Given the description of an element on the screen output the (x, y) to click on. 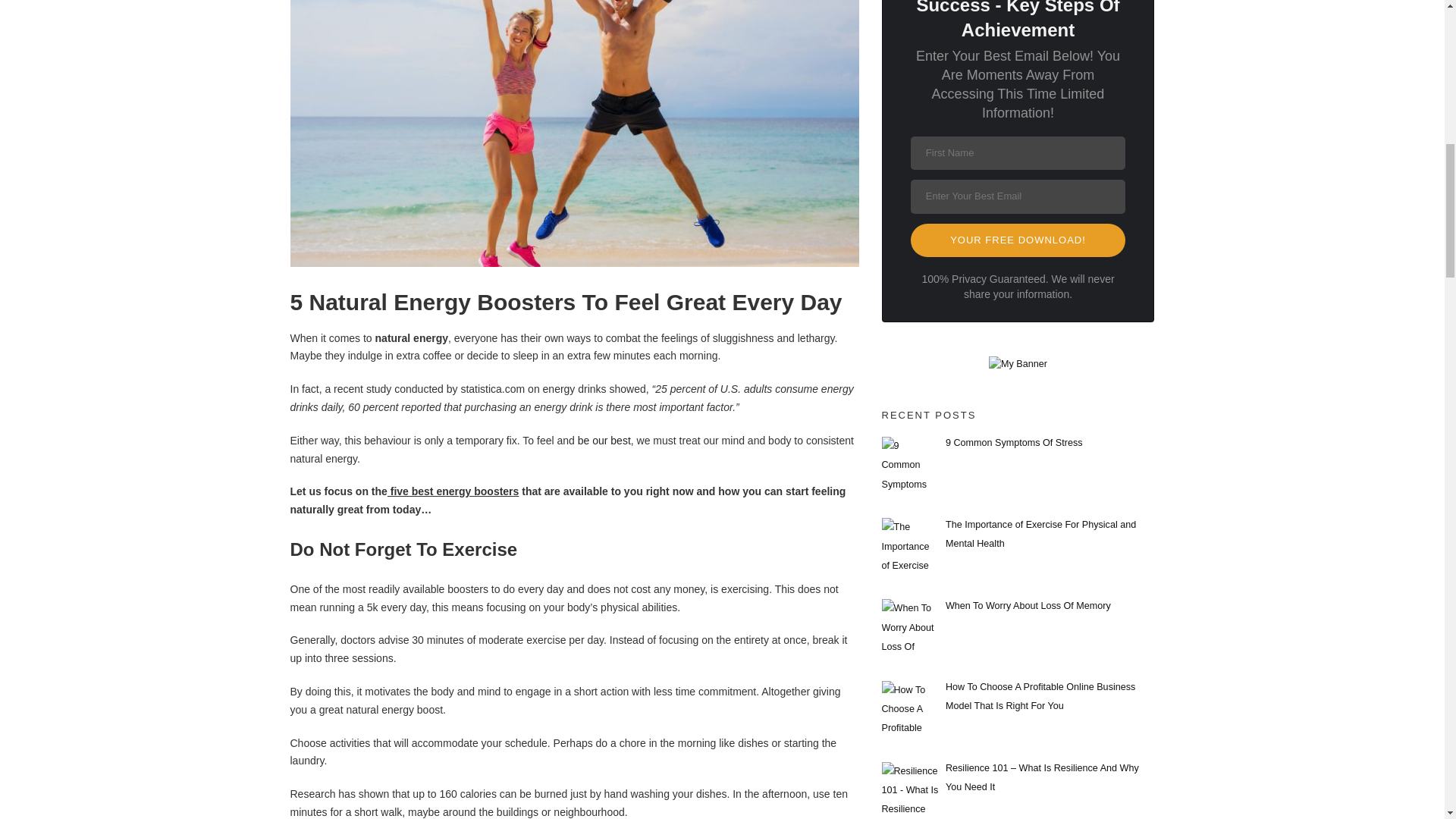
be our best (604, 440)
The Importance of Exercise For Physical and Mental Health (1039, 533)
9 Common Symptoms Of Stress (1013, 442)
YOUR FREE DOWNLOAD! (1017, 240)
